Given the description of an element on the screen output the (x, y) to click on. 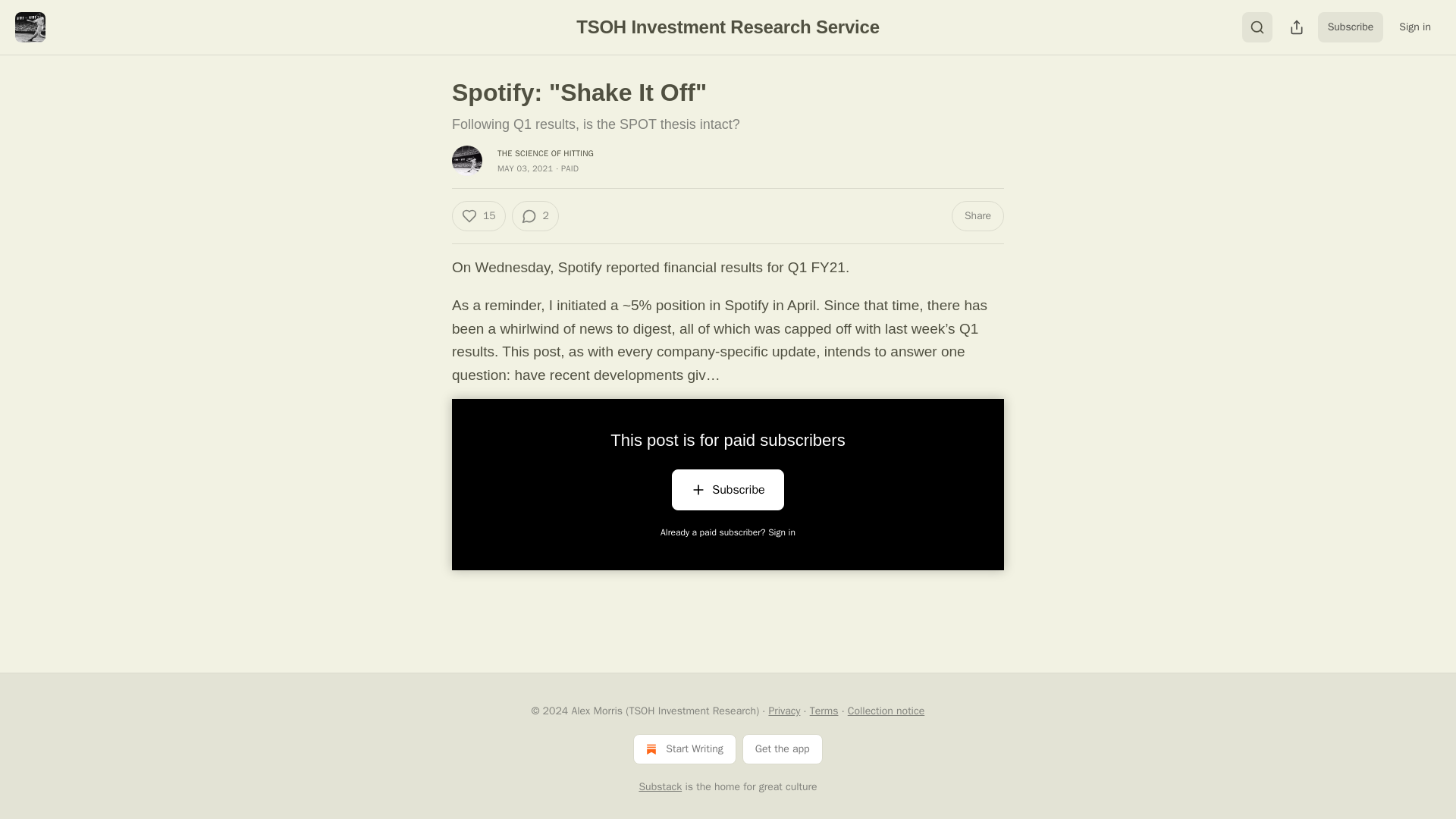
2 (534, 215)
Subscribe (727, 489)
Get the app (782, 748)
Start Writing (684, 748)
Already a paid subscriber? Sign in (727, 532)
Sign in (1415, 27)
Collection notice (885, 710)
Terms (823, 710)
THE SCIENCE OF HITTING (545, 153)
TSOH Investment Research Service (727, 26)
Substack (660, 786)
Privacy (783, 710)
Subscribe (727, 493)
Share (978, 215)
Subscribe (1350, 27)
